Given the description of an element on the screen output the (x, y) to click on. 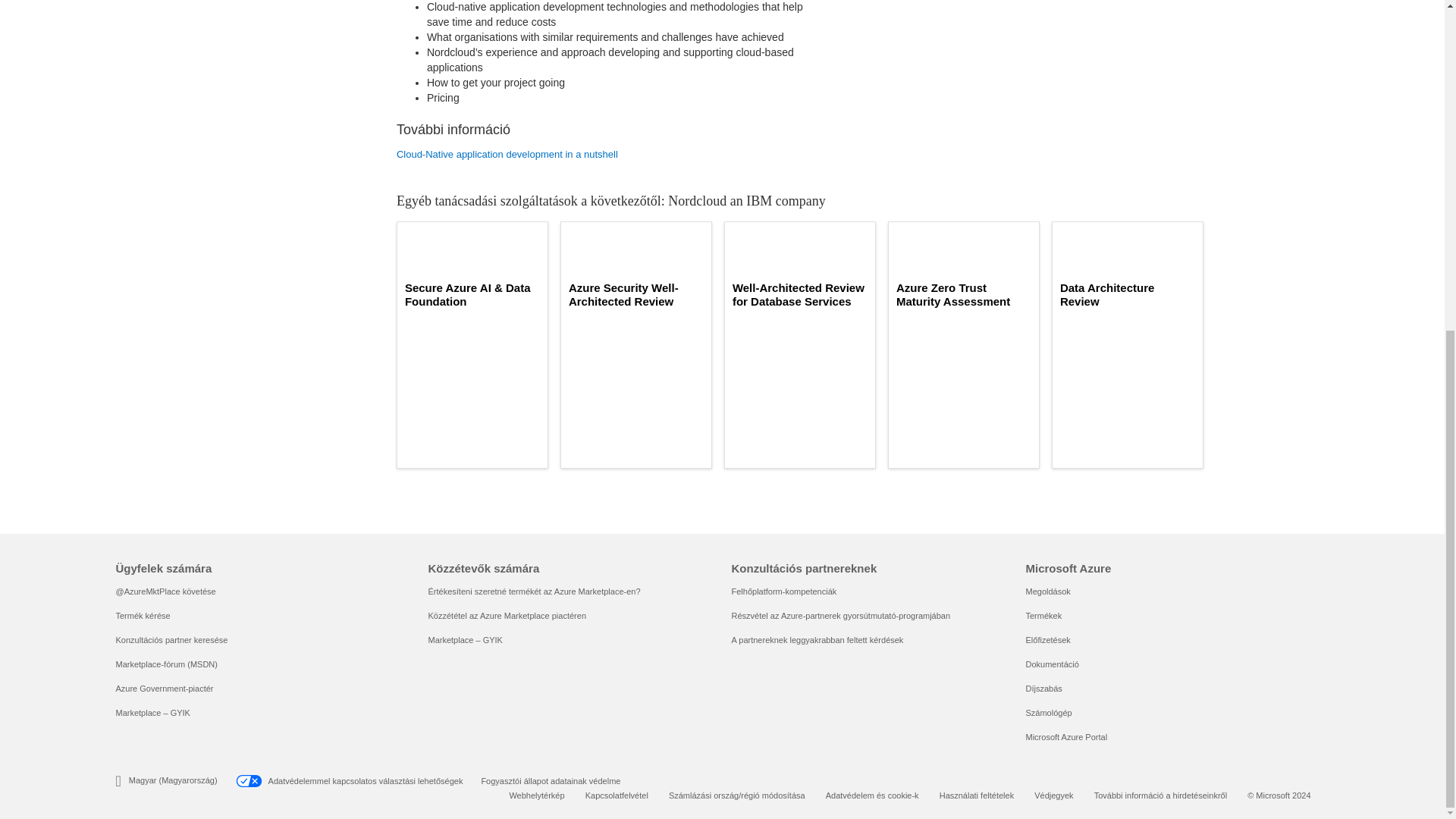
Azure Security Well-Architected Review (636, 294)
Data Architecture Review (1127, 294)
Well-Architected Review for Database Services (799, 294)
Azure Zero Trust Maturity Assessment (963, 294)
